Given the description of an element on the screen output the (x, y) to click on. 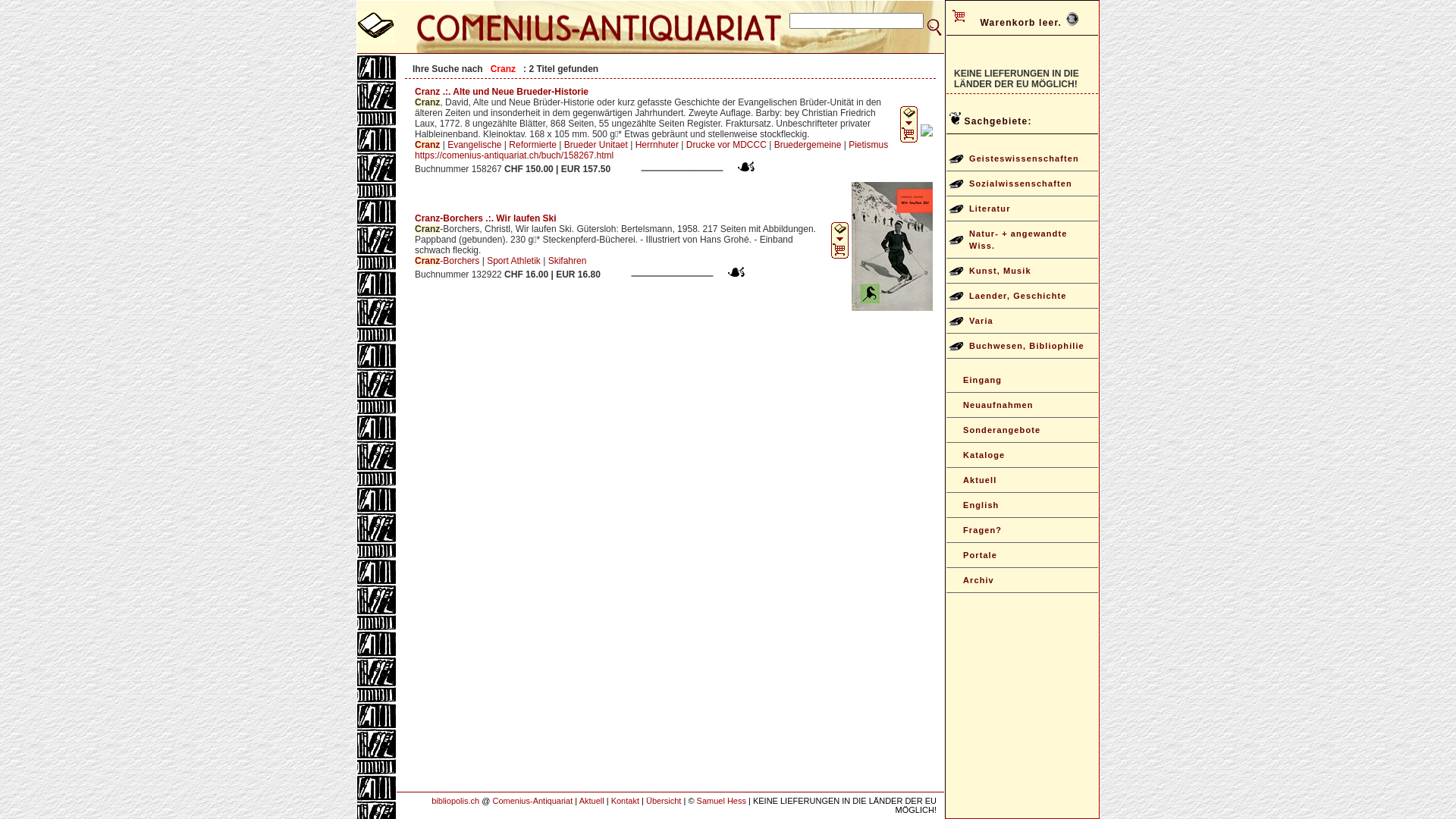
Aktuell Element type: text (591, 800)
Bruedergemeine Element type: text (807, 144)
Cranz-Borchers Element type: text (446, 260)
Archiv Element type: text (1022, 580)
bibliopolis.ch Element type: text (455, 800)
Fragen? Element type: text (1022, 529)
Buchwesen, Bibliophilie Element type: text (1022, 345)
Varia Element type: text (1022, 320)
Neuaufnahmen Element type: text (1022, 404)
Sonderangebote Element type: text (1022, 429)
English Element type: text (1022, 504)
Drucke vor MDCCC Element type: text (726, 144)
Cranz-Borchers .:. Wir laufen Ski Element type: text (485, 218)
Portale Element type: text (1022, 554)
Aktuell Element type: text (1022, 479)
Brueder Unitaet Element type: text (595, 144)
Kunst, Musik Element type: text (1022, 270)
Evangelische Element type: text (474, 144)
Natur- + angewandte Wiss. Element type: text (1022, 239)
Kataloge Element type: text (1022, 454)
Laender, Geschichte Element type: text (1022, 295)
Kontakt Element type: text (625, 800)
Literatur Element type: text (1022, 208)
Sport Athletik Element type: text (513, 260)
Geisteswissenschaften Element type: text (1022, 158)
Comenius-Antiquariat Element type: text (532, 800)
Samuel Hess Element type: text (721, 800)
Reformierte Element type: text (532, 144)
Cranz Element type: text (426, 144)
https://comenius-antiquariat.ch/buch/158267.html Element type: text (513, 155)
Herrnhuter Element type: text (656, 144)
Cranz .:. Alte und Neue Brueder-Historie Element type: text (501, 91)
Eingang Element type: text (1022, 379)
Skifahren Element type: text (567, 260)
Sozialwissenschaften Element type: text (1022, 183)
Pietismus Element type: text (868, 144)
